Given the description of an element on the screen output the (x, y) to click on. 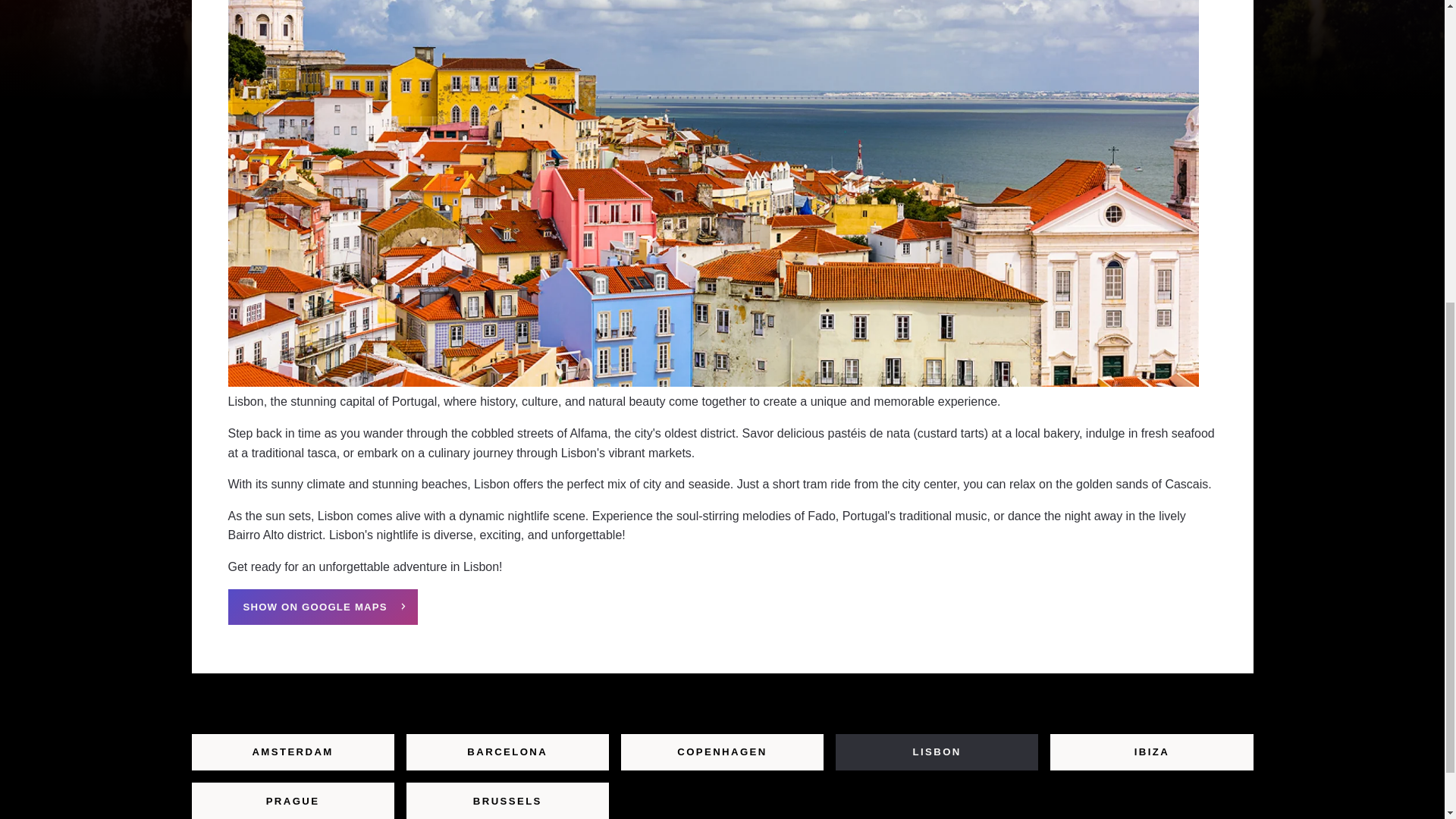
BARCELONA (507, 751)
AMSTERDAM (291, 751)
IBIZA (1150, 751)
SHOW ON GOOGLE MAPS (321, 606)
LISBON (936, 751)
COPENHAGEN (722, 751)
